Given the description of an element on the screen output the (x, y) to click on. 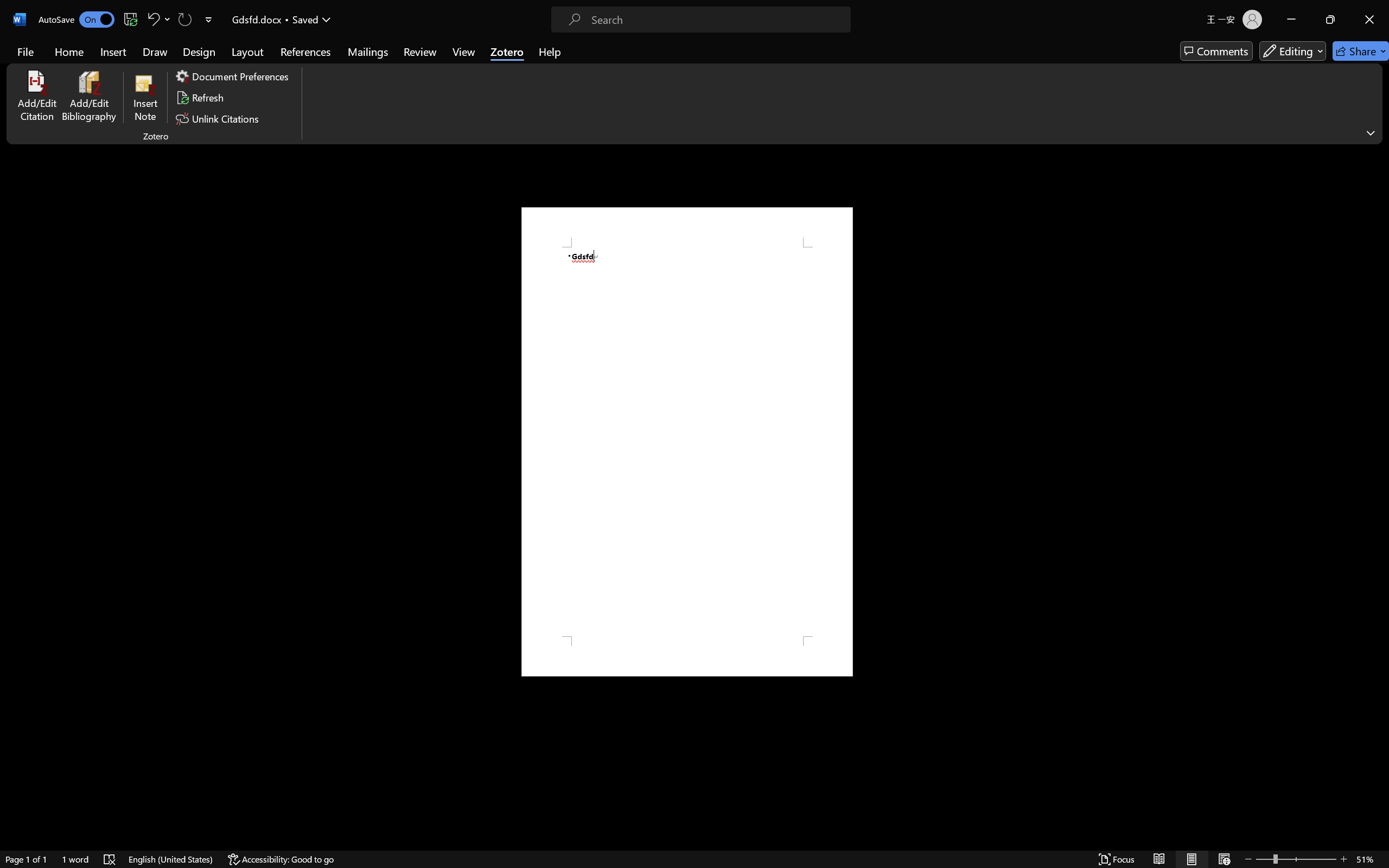
Learn More (351, 62)
50% (663, 449)
Class: MsoCommandBar (694, 836)
Line down (1361, 790)
From Current Slide... (121, 62)
200% (664, 415)
